Given the description of an element on the screen output the (x, y) to click on. 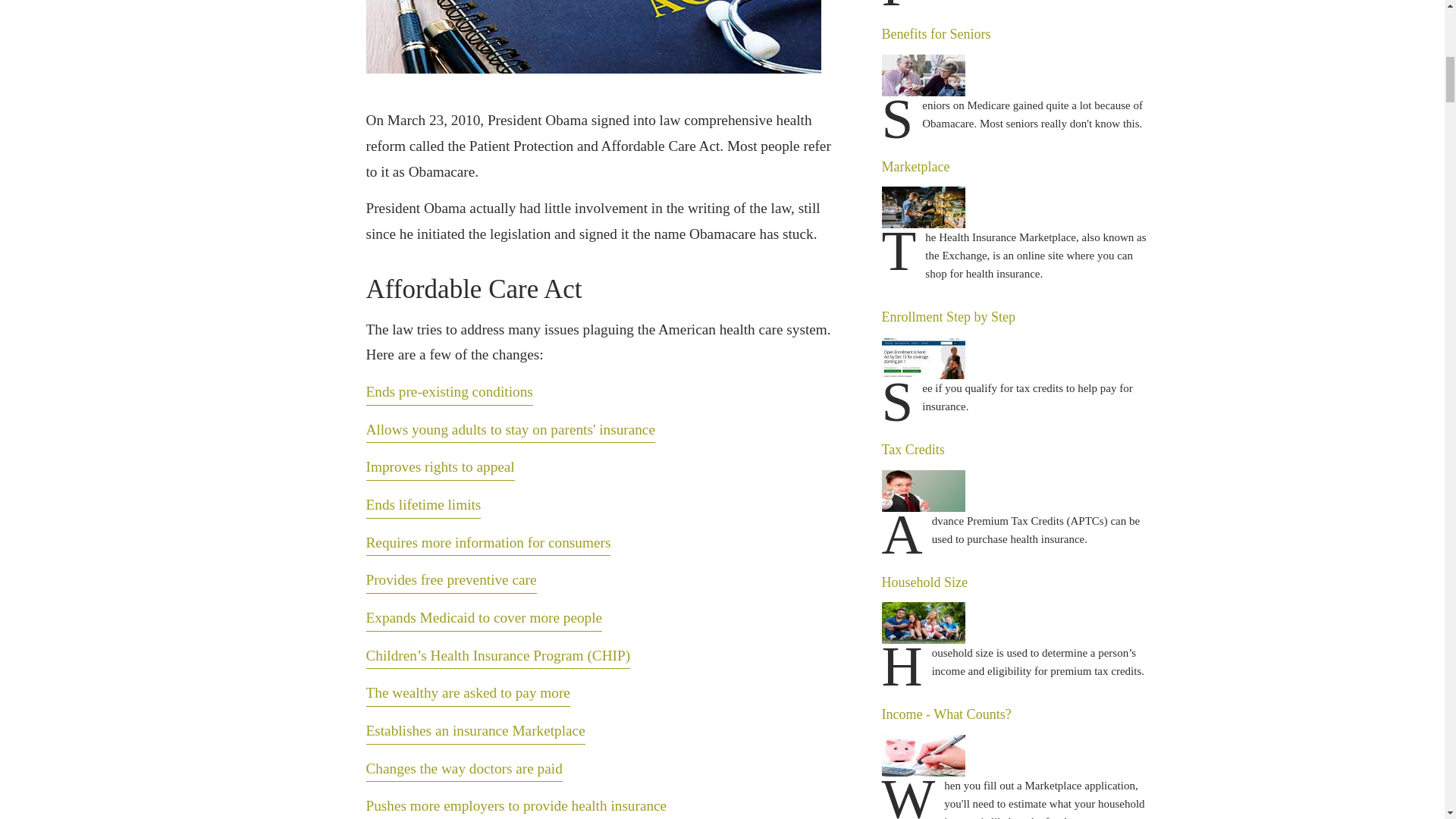
Provides free preventive care (450, 580)
Changes the way doctors are paid (463, 768)
Improves rights to appeal (439, 467)
Requires more information for consumers (487, 542)
Expands Medicaid to cover more people (483, 618)
Pushes more employers to provide health insurance (515, 806)
Establishes an insurance Marketplace (475, 731)
The wealthy are asked to pay more (467, 693)
Allows young adults to stay on parents' insurance (509, 429)
Ends lifetime limits (422, 505)
Ends pre-existing conditions (448, 392)
